Given the description of an element on the screen output the (x, y) to click on. 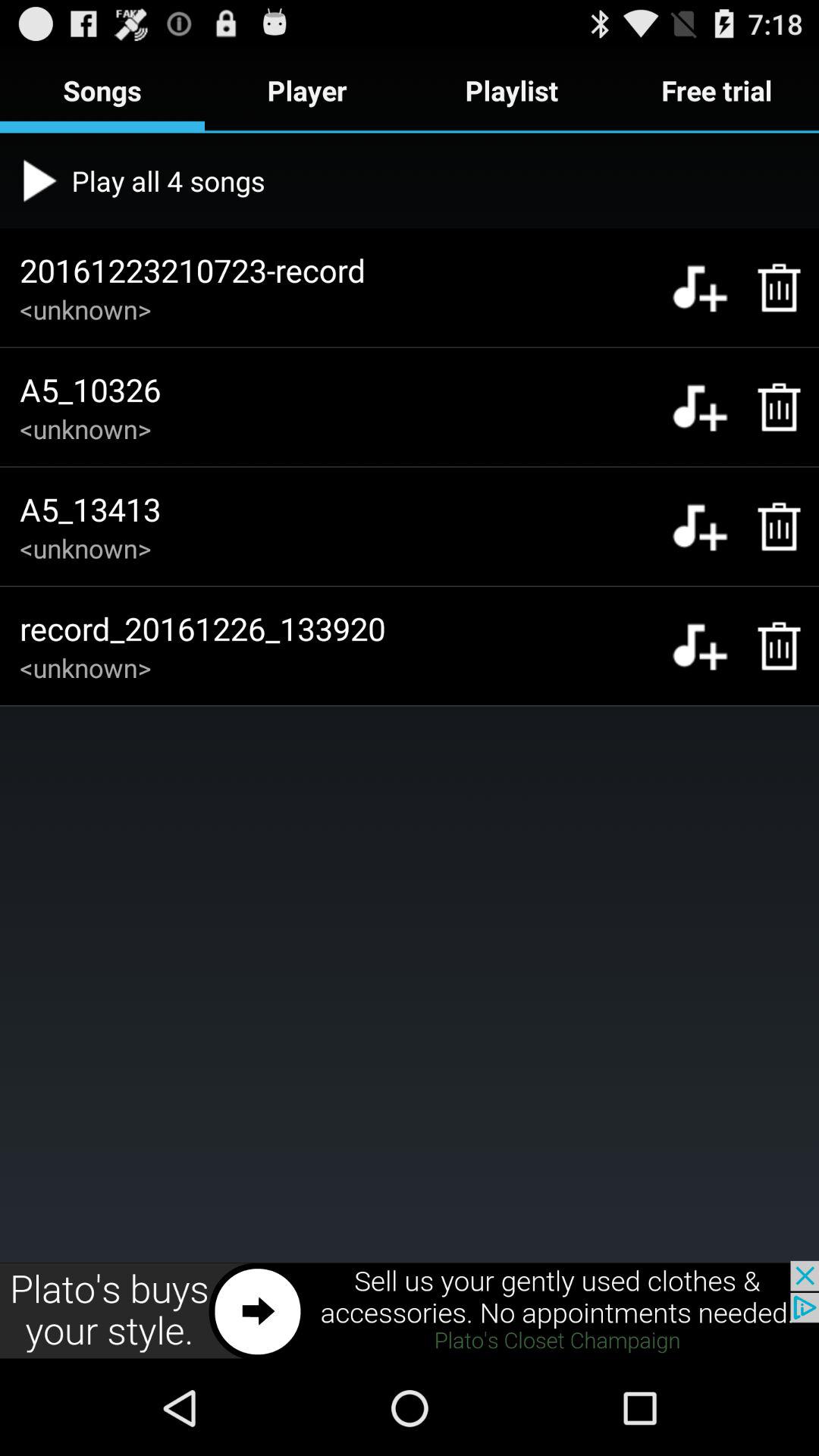
delete item (771, 287)
